Given the description of an element on the screen output the (x, y) to click on. 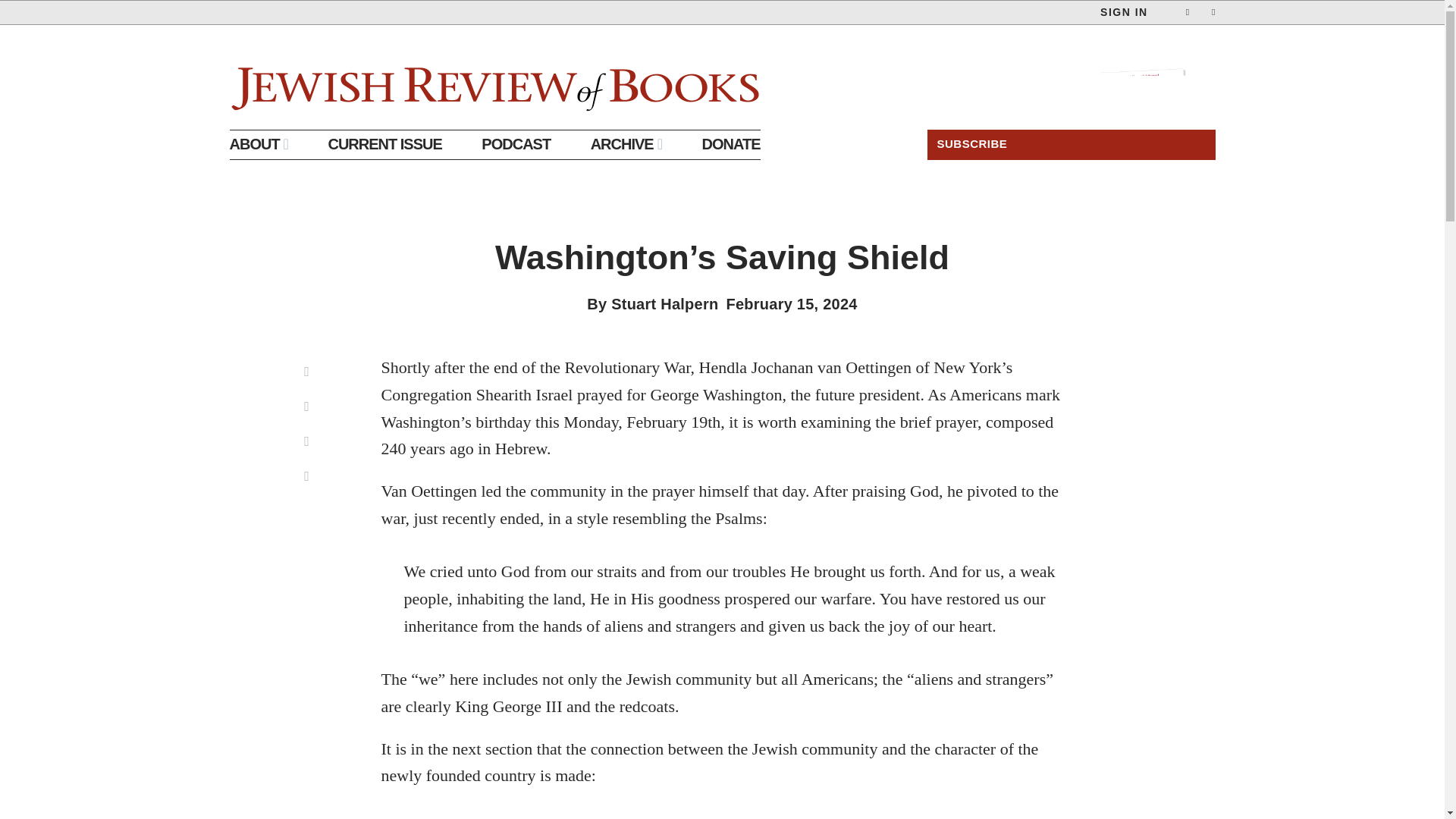
Facebook (306, 441)
Print (306, 371)
ARCHIVE (626, 143)
DONATE (730, 143)
SIGN IN (1124, 12)
Stuart Halpern (664, 303)
ABOUT (257, 143)
SUBSCRIBE (1070, 143)
Email (306, 406)
PODCAST (515, 143)
Twitter (306, 475)
CURRENT ISSUE (384, 143)
